Given the description of an element on the screen output the (x, y) to click on. 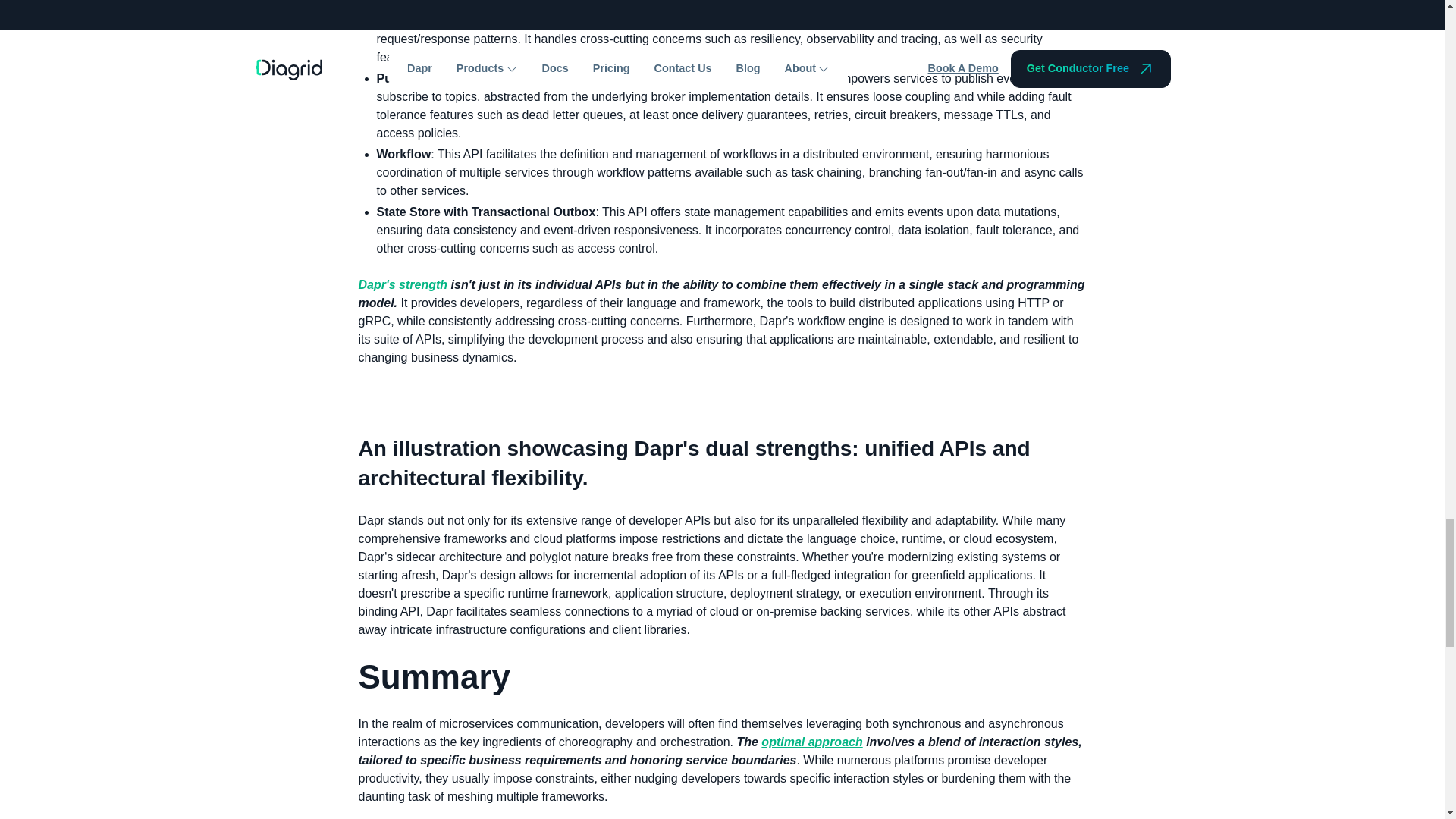
optimal approach (811, 741)
Dapr's strength (402, 284)
